Given the description of an element on the screen output the (x, y) to click on. 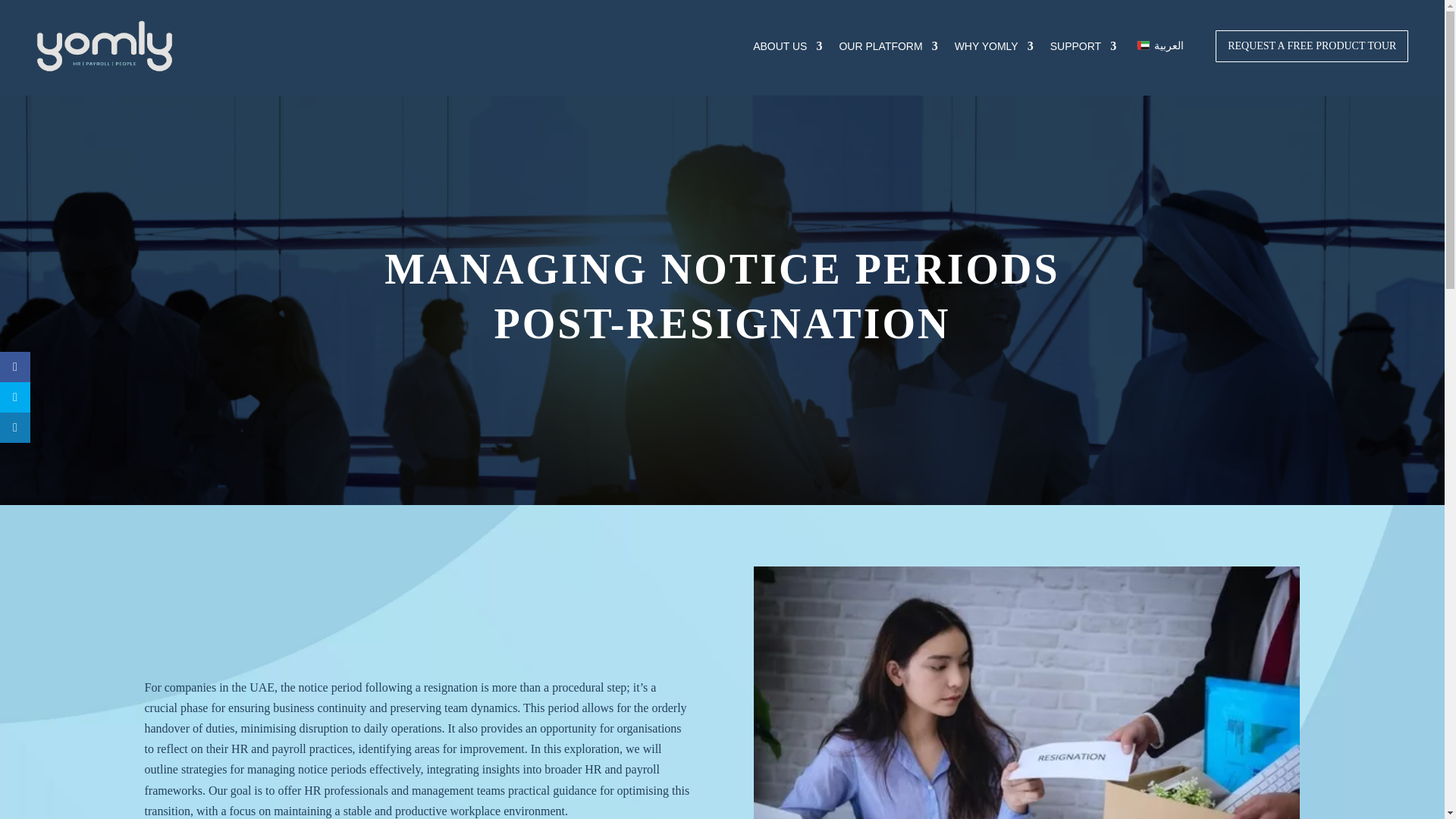
REQUEST A FREE PRODUCT TOUR (1311, 46)
OUR PLATFORM (887, 46)
WHY YOMLY (994, 46)
SUPPORT (1082, 46)
ABOUT US (787, 46)
